Given the description of an element on the screen output the (x, y) to click on. 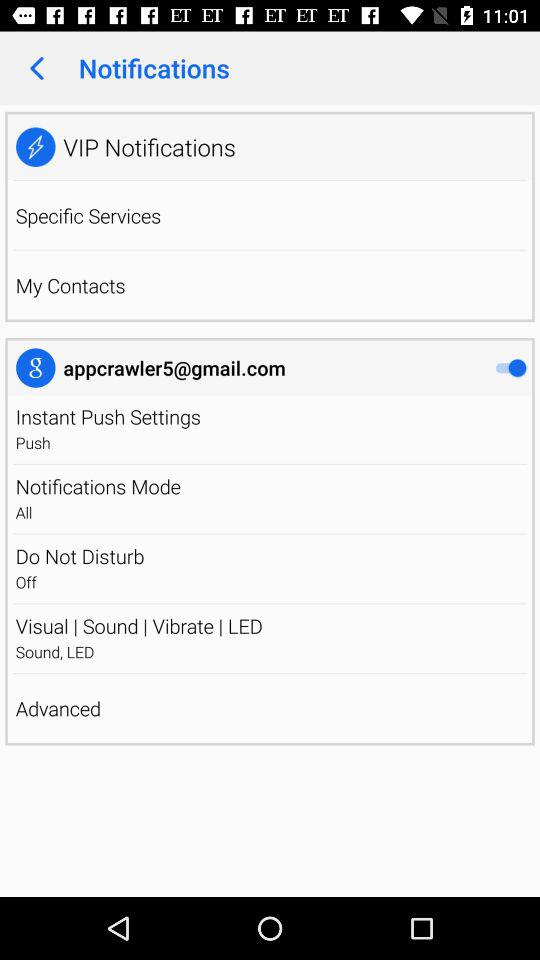
press the all icon (269, 512)
